Given the description of an element on the screen output the (x, y) to click on. 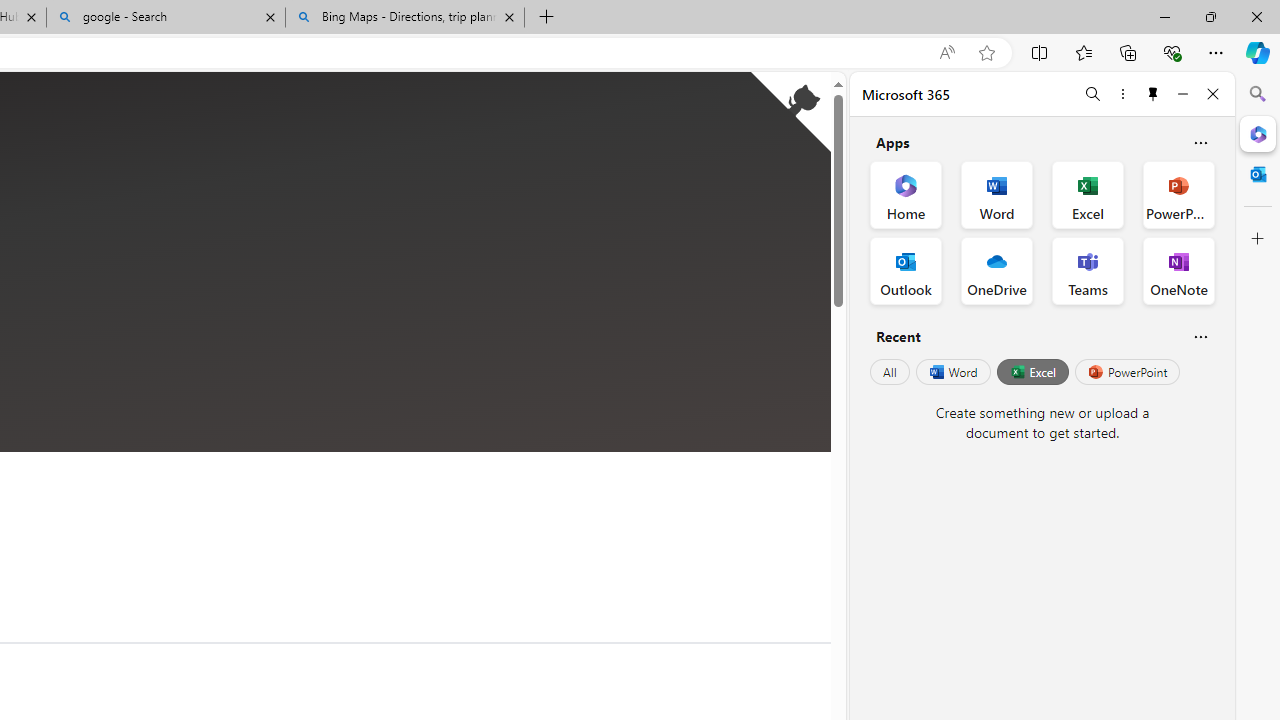
Is this helpful? (1200, 336)
Excel Office App (1087, 194)
Word Office App (996, 194)
Outlook Office App (906, 270)
